Given the description of an element on the screen output the (x, y) to click on. 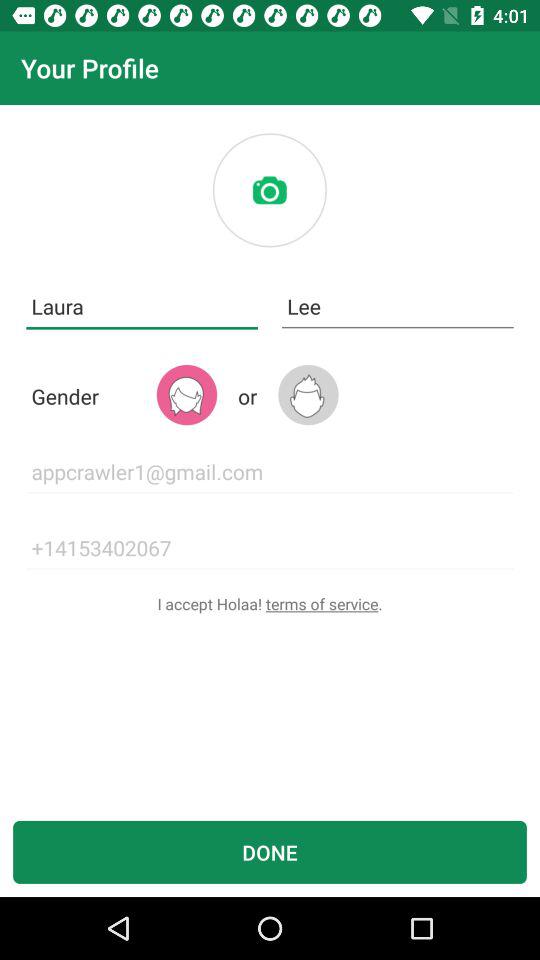
select gender for profile (186, 394)
